Given the description of an element on the screen output the (x, y) to click on. 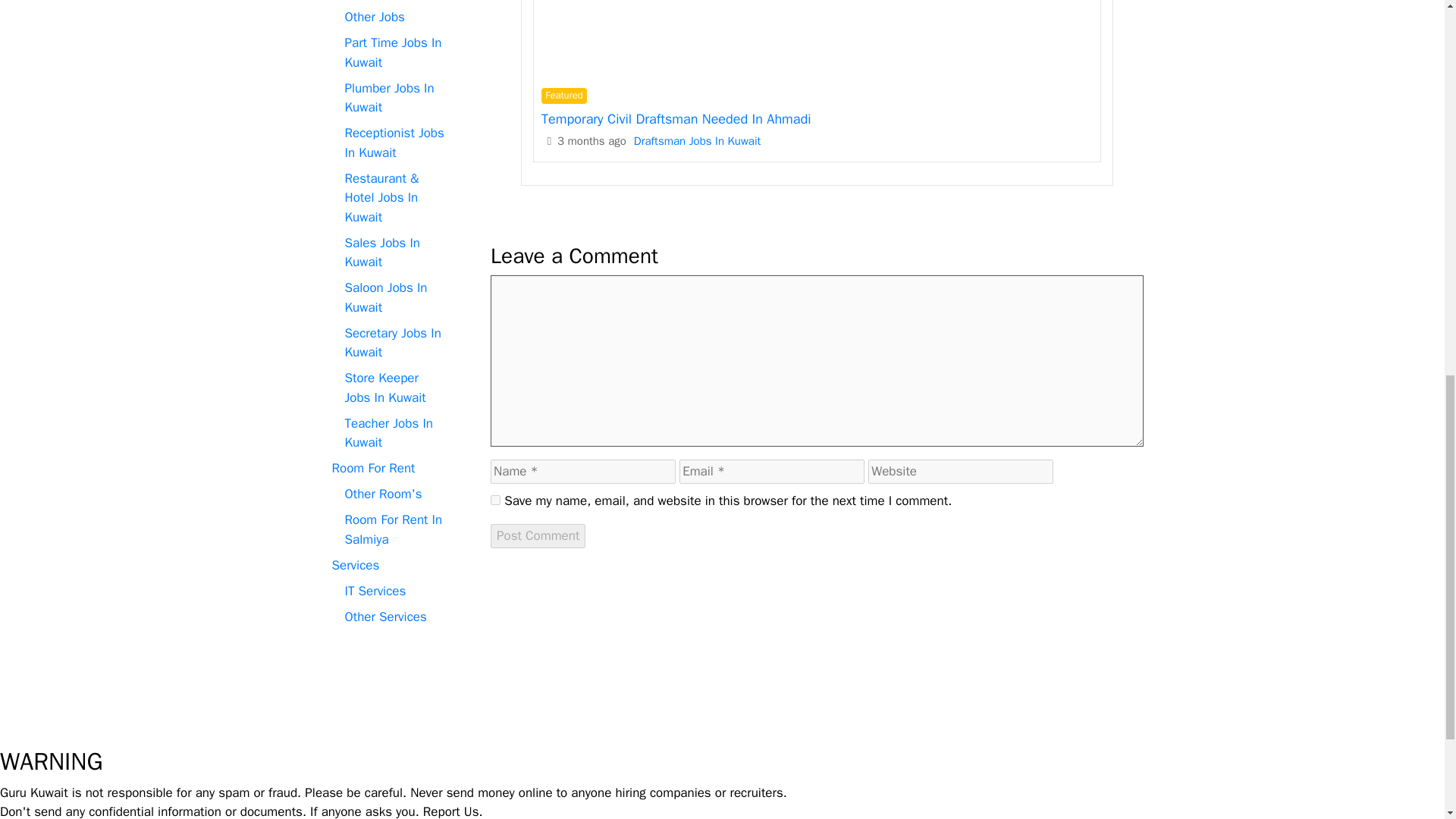
yes (495, 500)
Draftsman Jobs In Kuwait (696, 141)
Temporary Civil Draftsman Needed In Ahmadi (675, 118)
SketchUp 3D Draftsman Required In Kuwai 1 (816, 37)
Post Comment (537, 535)
